Given the description of an element on the screen output the (x, y) to click on. 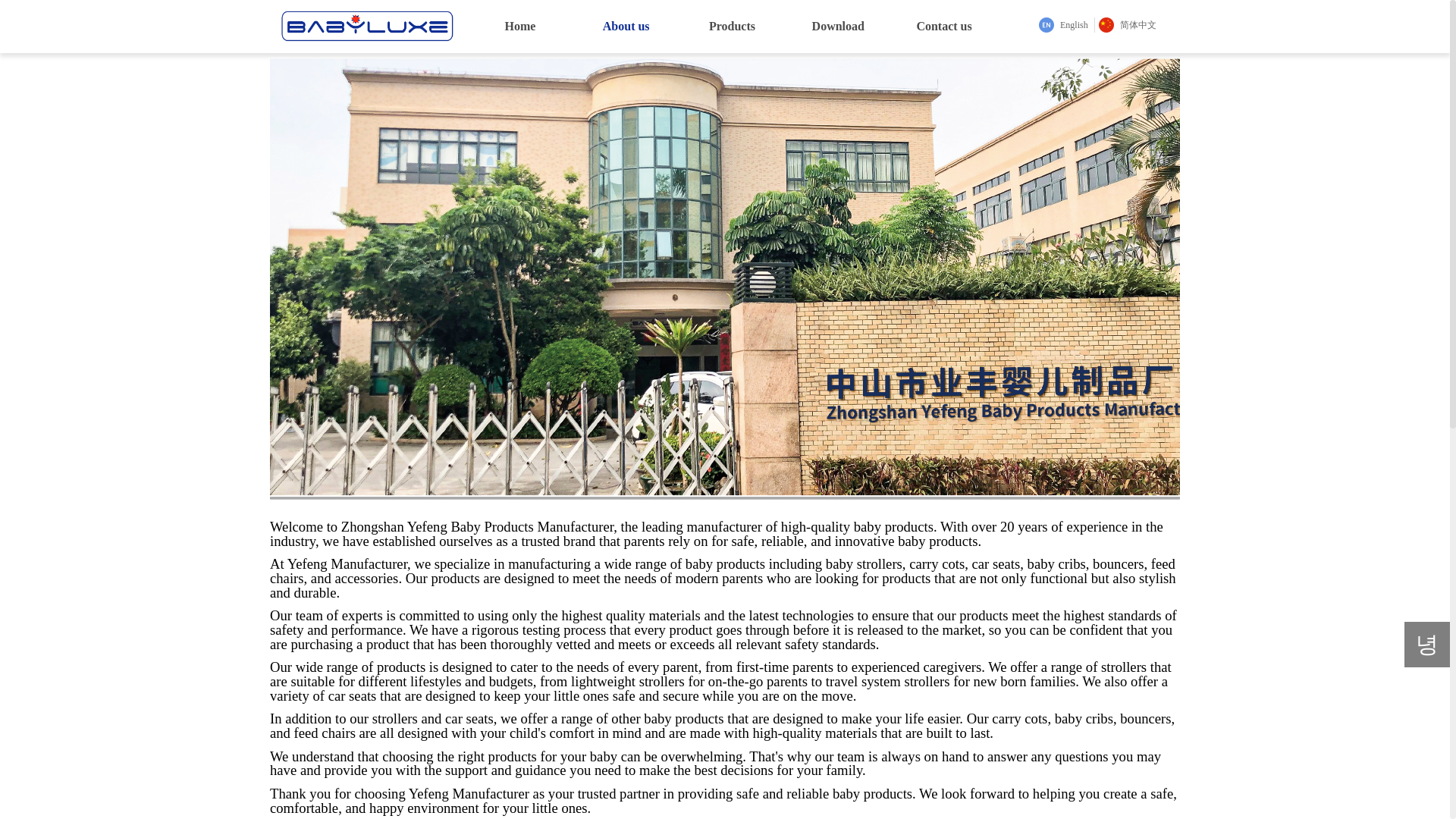
English (1063, 24)
Home (520, 26)
Products (732, 26)
Download (837, 26)
About us (626, 26)
Contact us (943, 26)
